Given the description of an element on the screen output the (x, y) to click on. 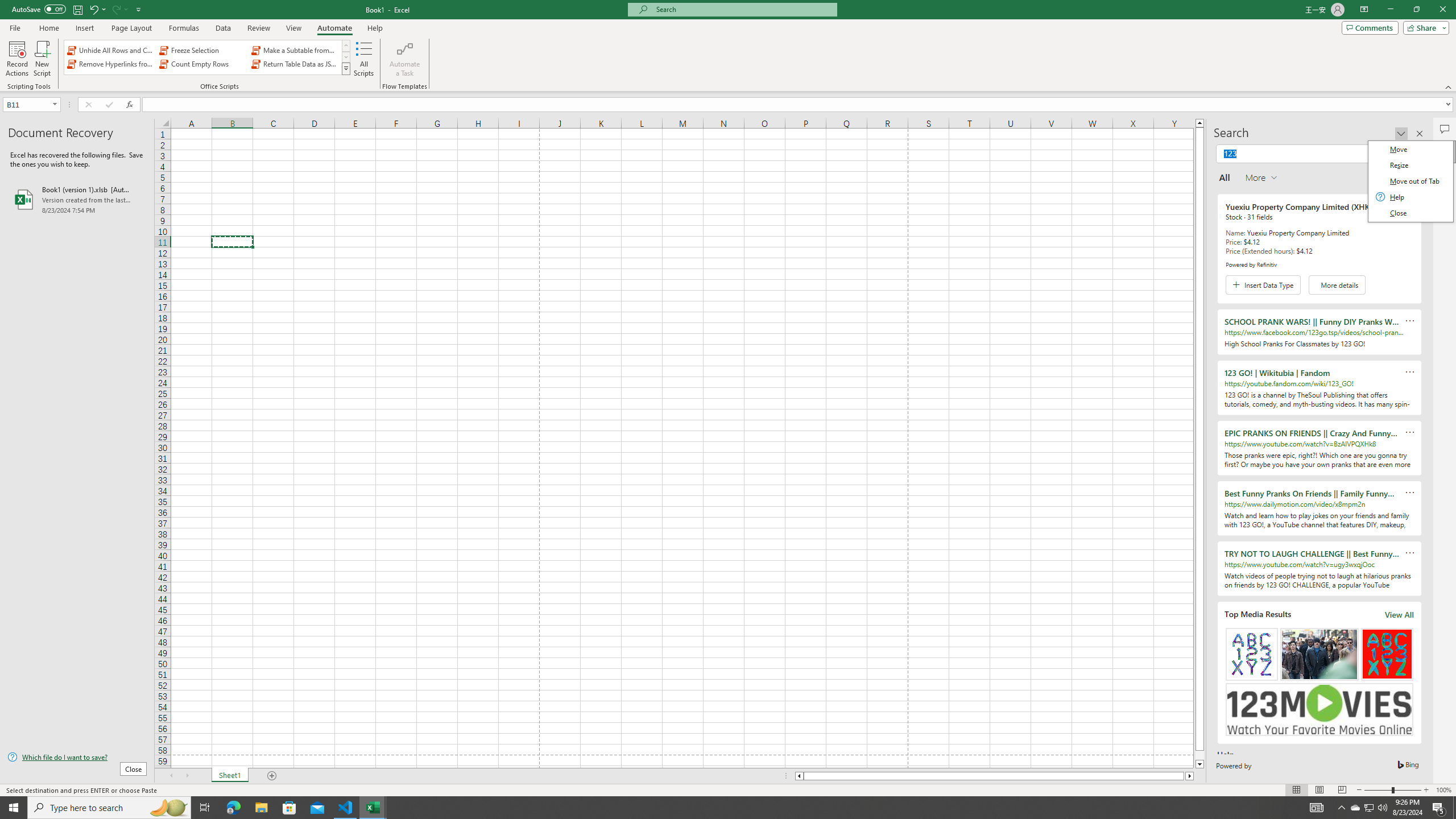
Record Actions (17, 58)
Automate a Task (404, 58)
New Script (41, 58)
AutomationID: OfficeScriptsGallery (207, 57)
